Given the description of an element on the screen output the (x, y) to click on. 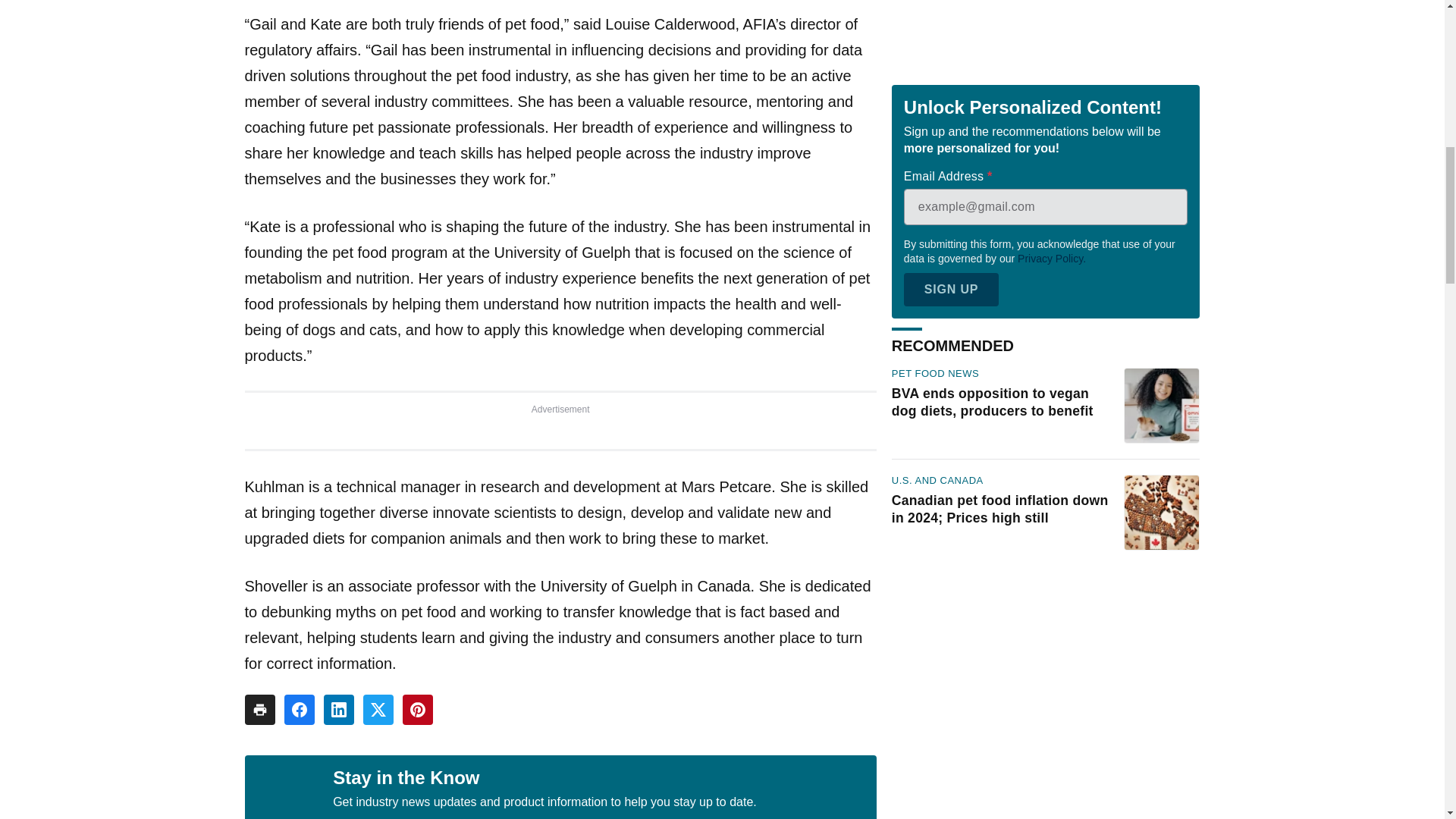
Share To linkedin (338, 709)
Share To print (259, 709)
Share To pinterest (416, 709)
Share To facebook (298, 709)
Share To twitter (377, 709)
